Given the description of an element on the screen output the (x, y) to click on. 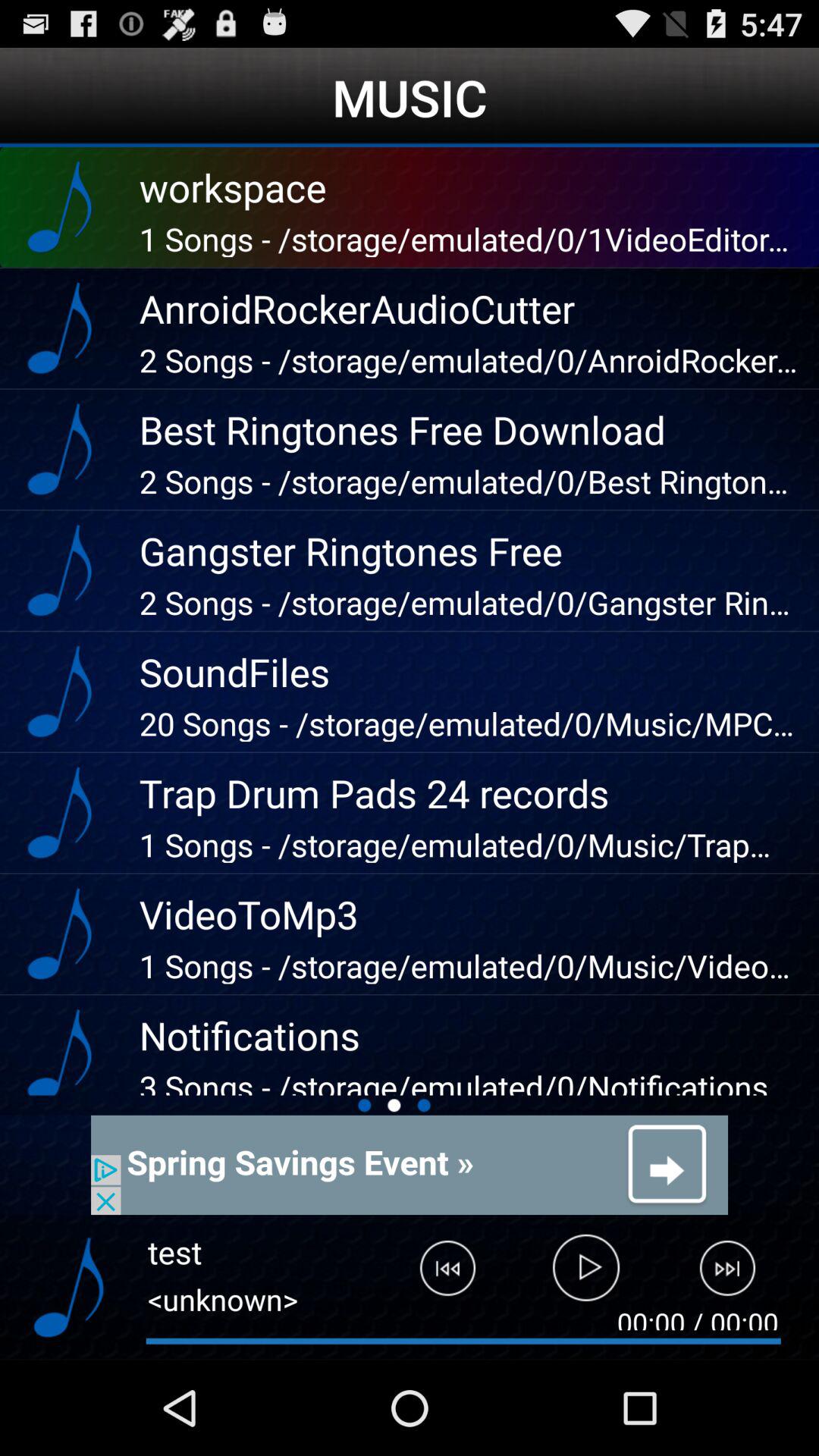
previous song (436, 1274)
